Given the description of an element on the screen output the (x, y) to click on. 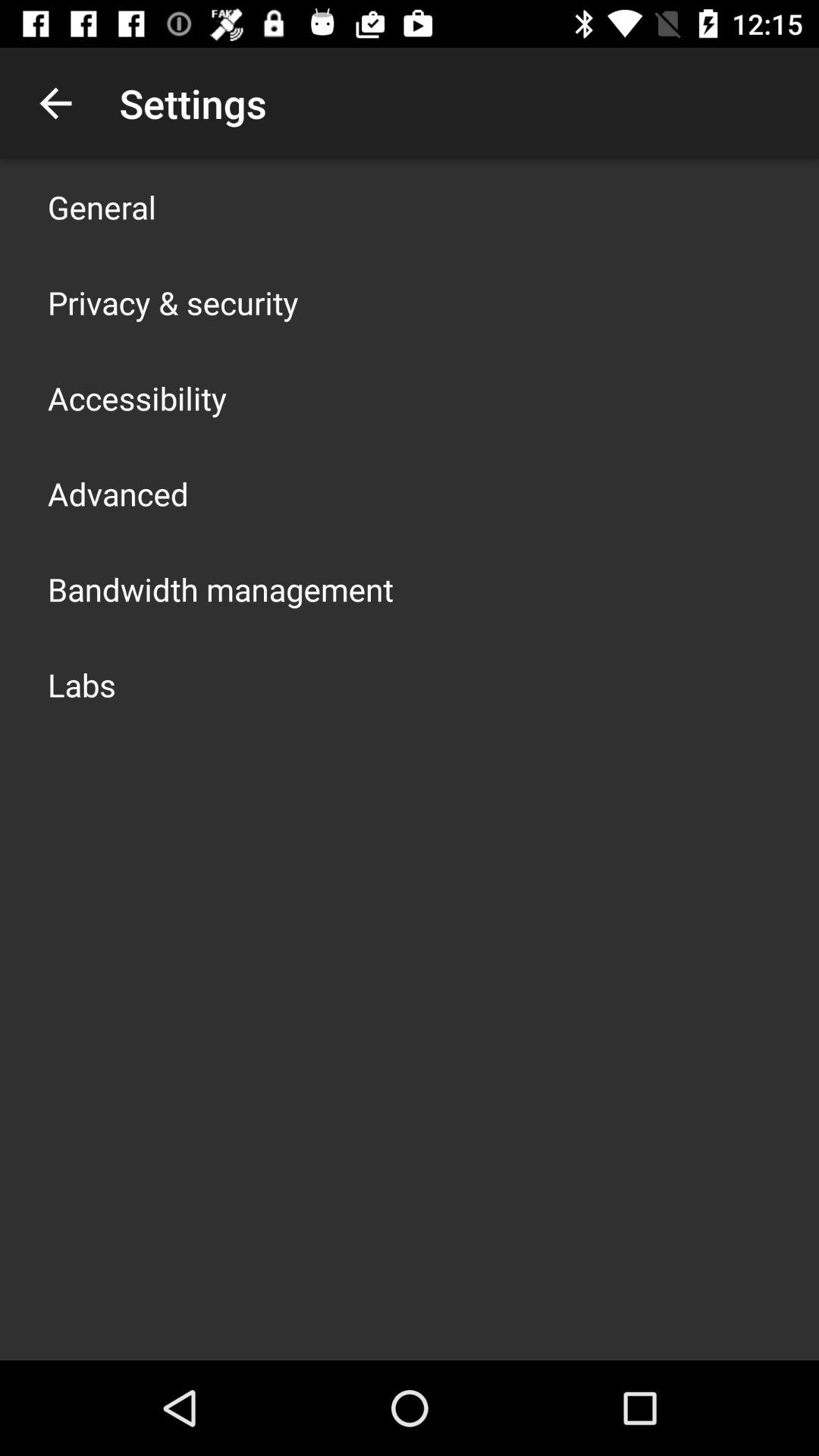
swipe to accessibility app (136, 397)
